Given the description of an element on the screen output the (x, y) to click on. 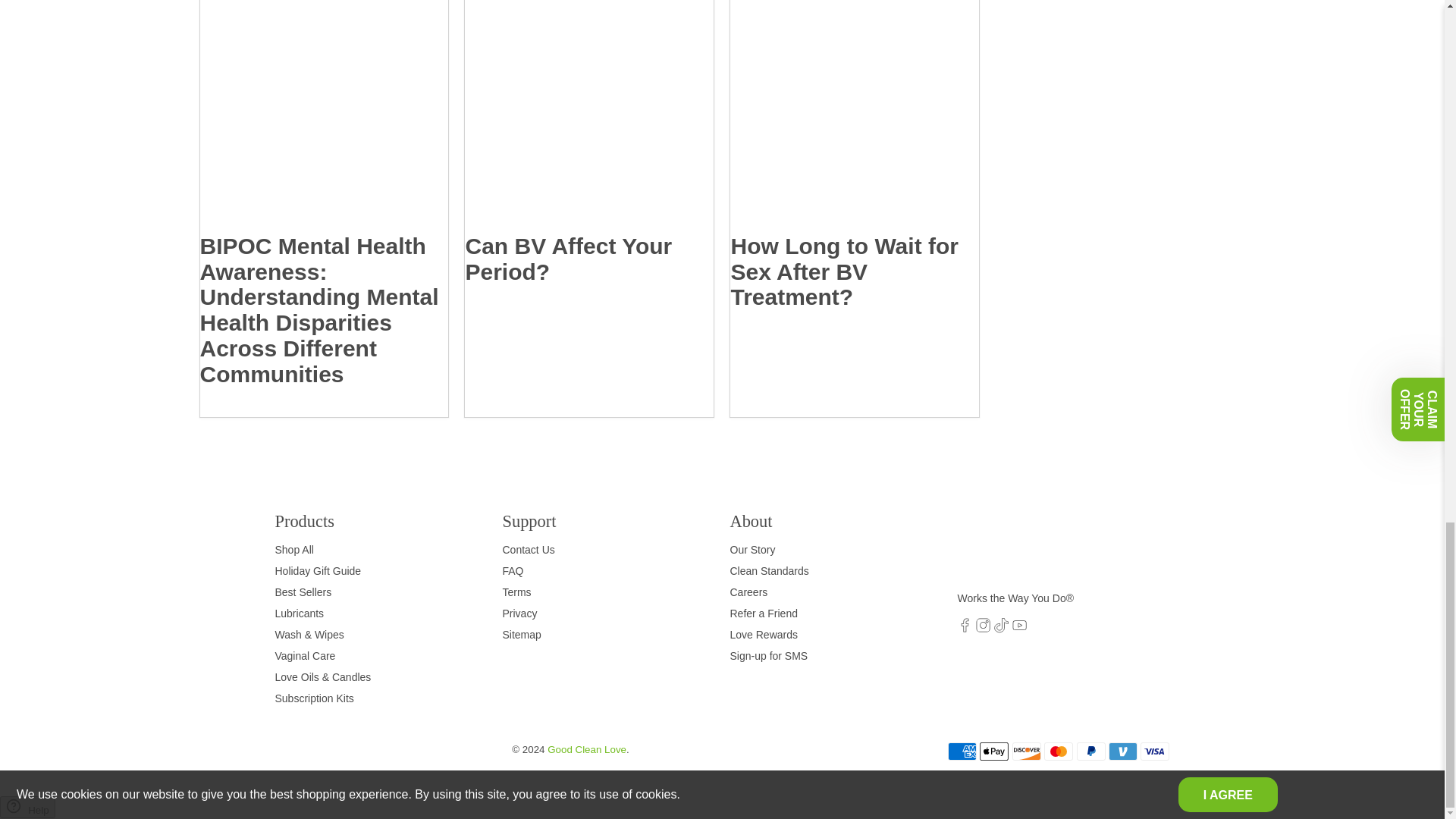
Good Clean Love (1020, 549)
Visa (1154, 751)
Venmo (1122, 751)
Mastercard (1058, 751)
How Long to Wait for Sex After BV Treatment? (854, 116)
Apple Pay (994, 751)
Can BV Affect Your Period? (588, 116)
How Long to Wait for Sex After BV Treatment? (844, 271)
Can BV Affect Your Period? (567, 258)
American Express (961, 751)
Discover (1026, 751)
PayPal (1091, 751)
